Given the description of an element on the screen output the (x, y) to click on. 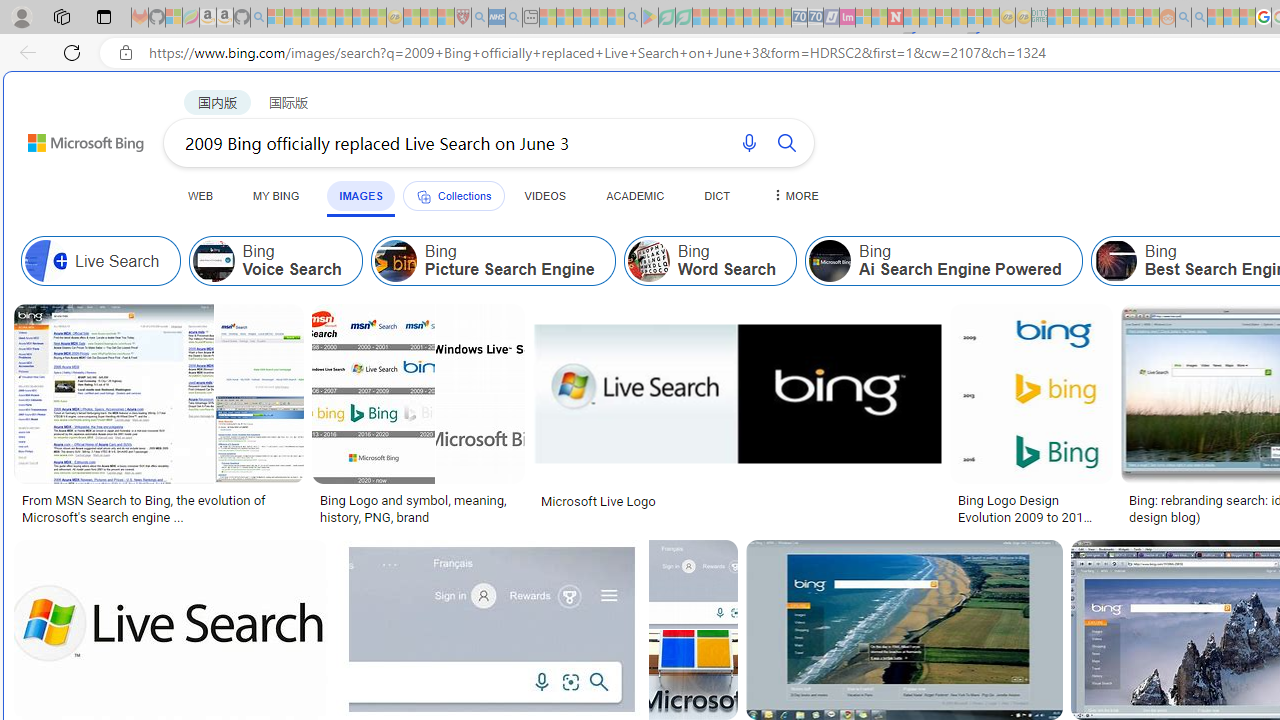
Jobs - lastminute.com Investor Portal - Sleeping (847, 17)
ACADEMIC (635, 195)
Live Search (45, 260)
WEB (201, 195)
Bing Voice Search (275, 260)
MSNBC - MSN - Sleeping (1055, 17)
Bing Picture Search Engine (492, 260)
Bing Best Search Engine (1115, 260)
